Given the description of an element on the screen output the (x, y) to click on. 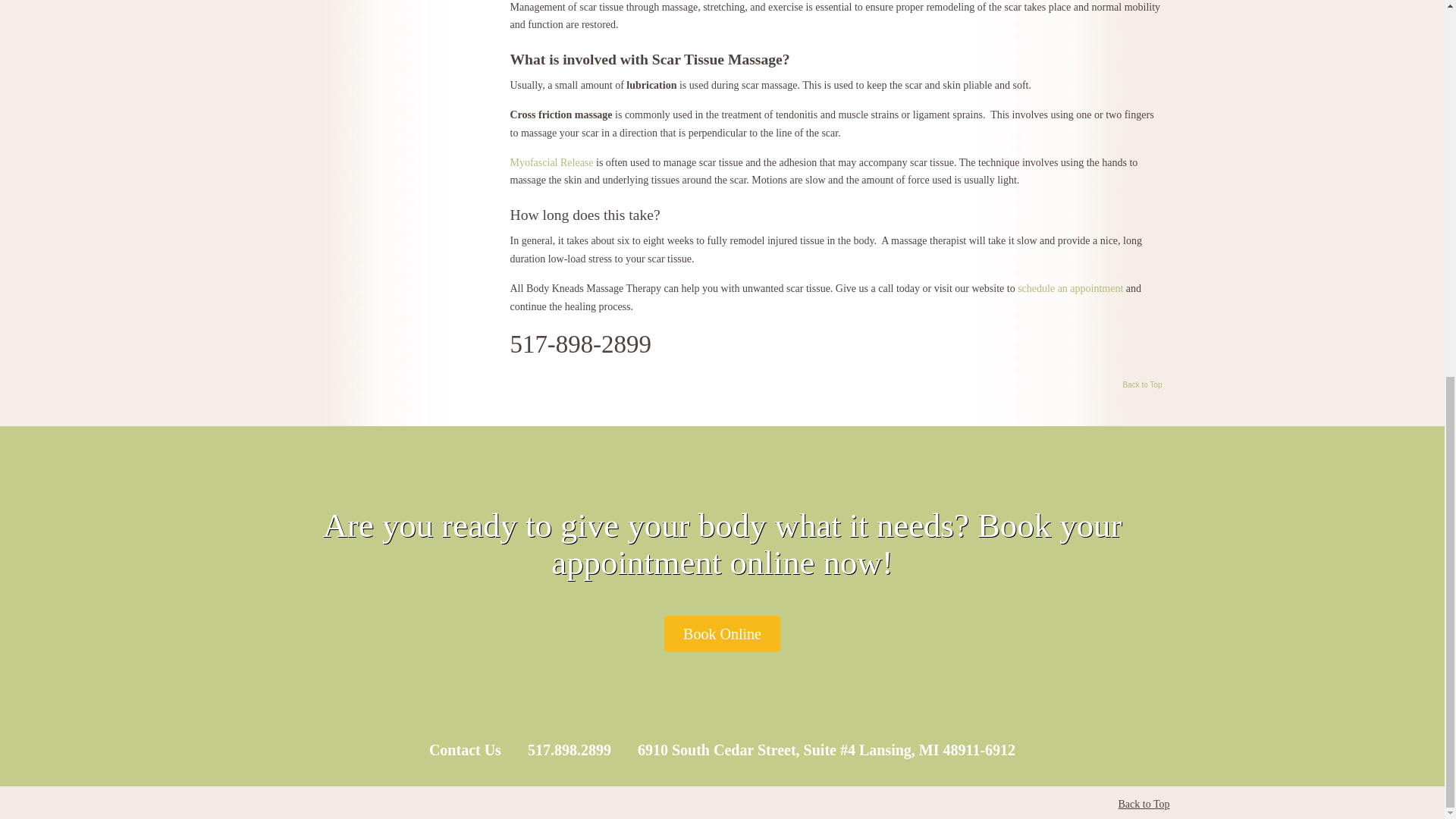
schedule an appointment (1069, 288)
Book Online (721, 633)
Myofascial Release (550, 162)
Top of Page (1141, 388)
Back to Top (1144, 804)
Back to Top (1141, 388)
Contact Us (464, 750)
